Given the description of an element on the screen output the (x, y) to click on. 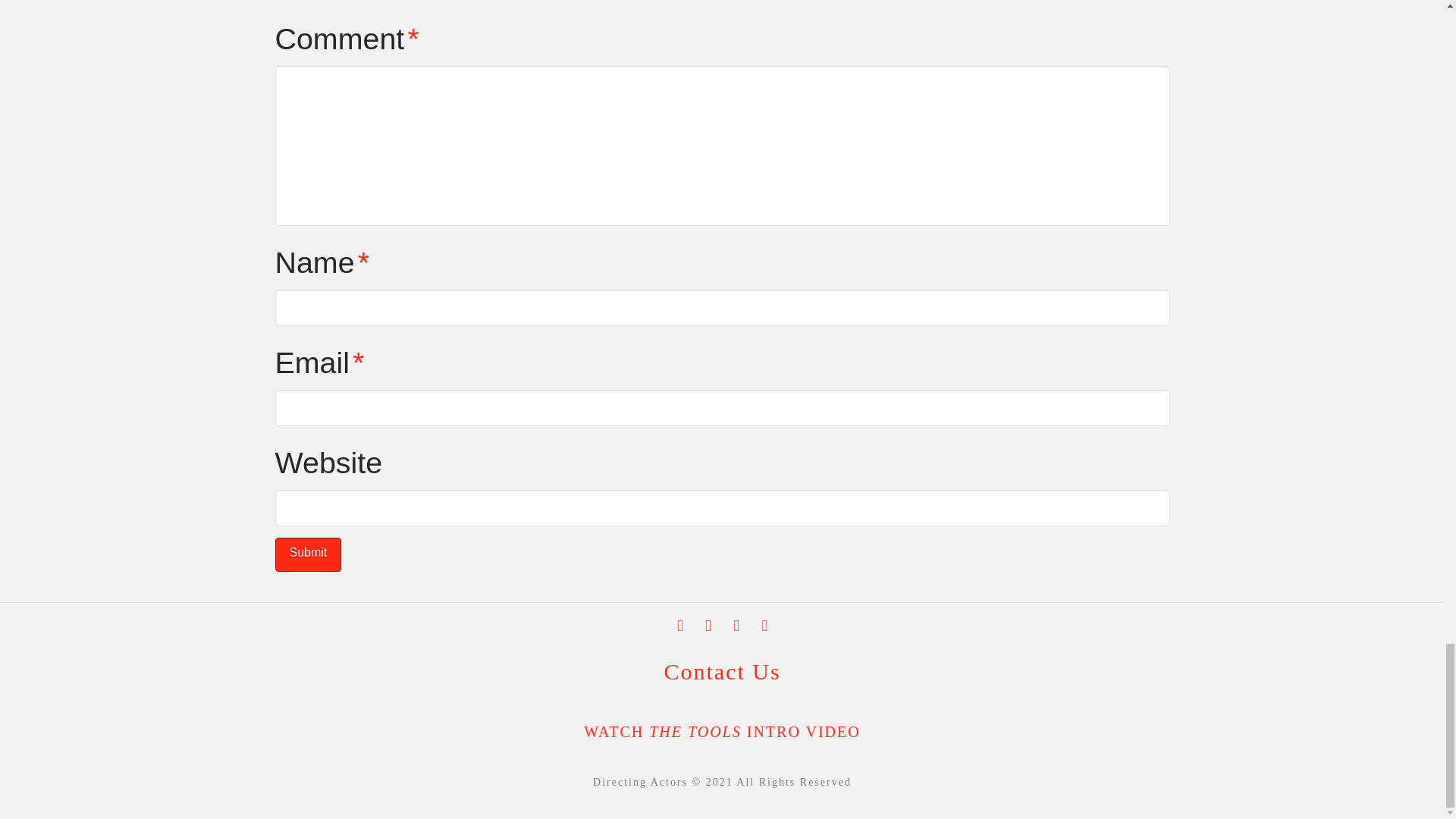
Submit (307, 554)
Contact Us (721, 671)
Submit (307, 554)
